Given the description of an element on the screen output the (x, y) to click on. 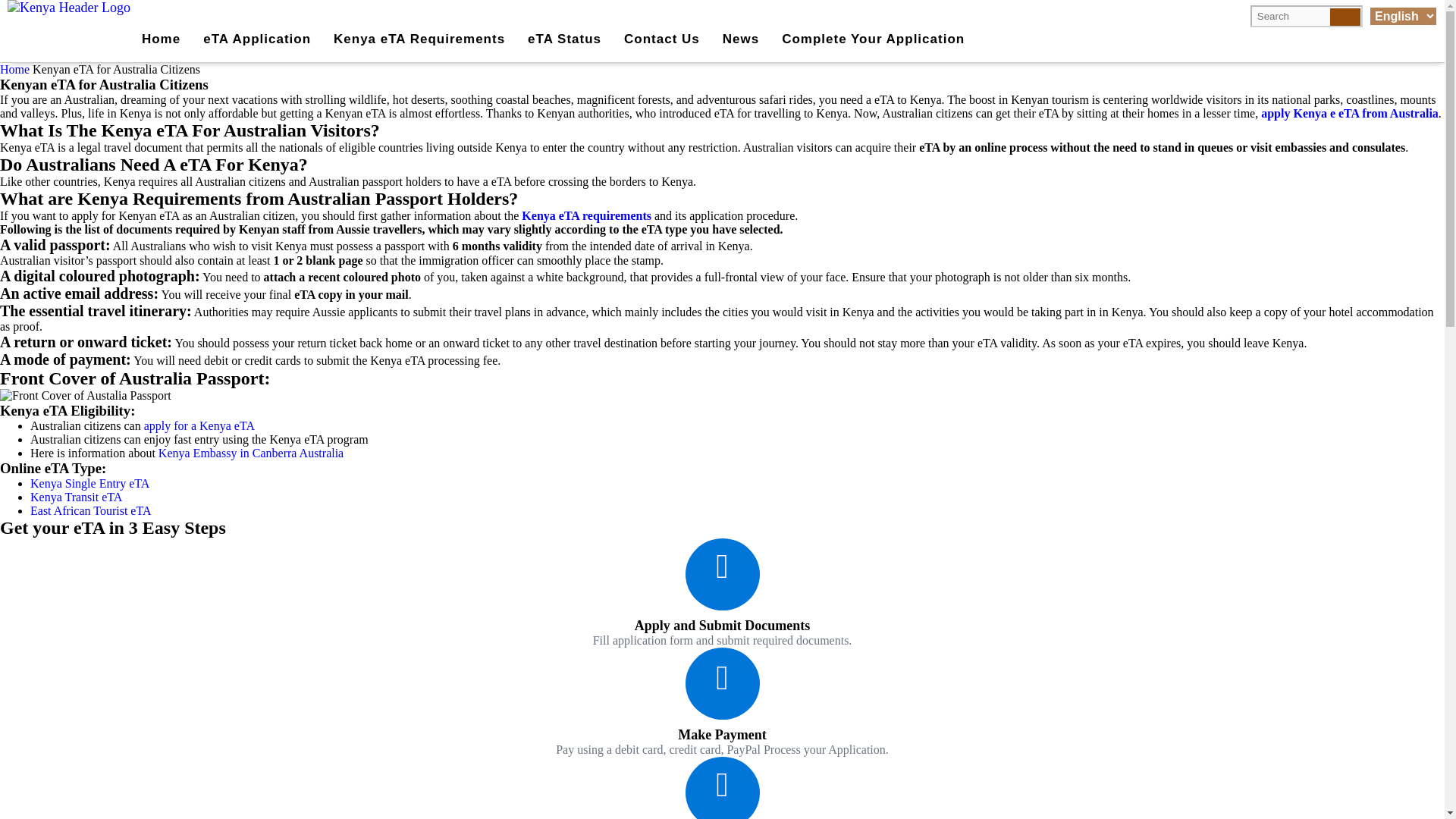
apply Kenya e eTA from Australia (1349, 113)
Kenya eTA requirements (585, 215)
Contact Us (661, 38)
eTA Status (564, 38)
Home (14, 69)
East African Tourist eTA (90, 510)
Kenya eTA Application (256, 38)
News (740, 38)
Kenya Embassy in Canberra Australia (250, 452)
Complete Your Application (872, 38)
apply Kenya e eTA from Australia (1349, 113)
Kenya Transit eTA (76, 496)
Kenya eTA Requirements (418, 38)
News (740, 38)
Front Cover of Australia Passport (85, 395)
